Given the description of an element on the screen output the (x, y) to click on. 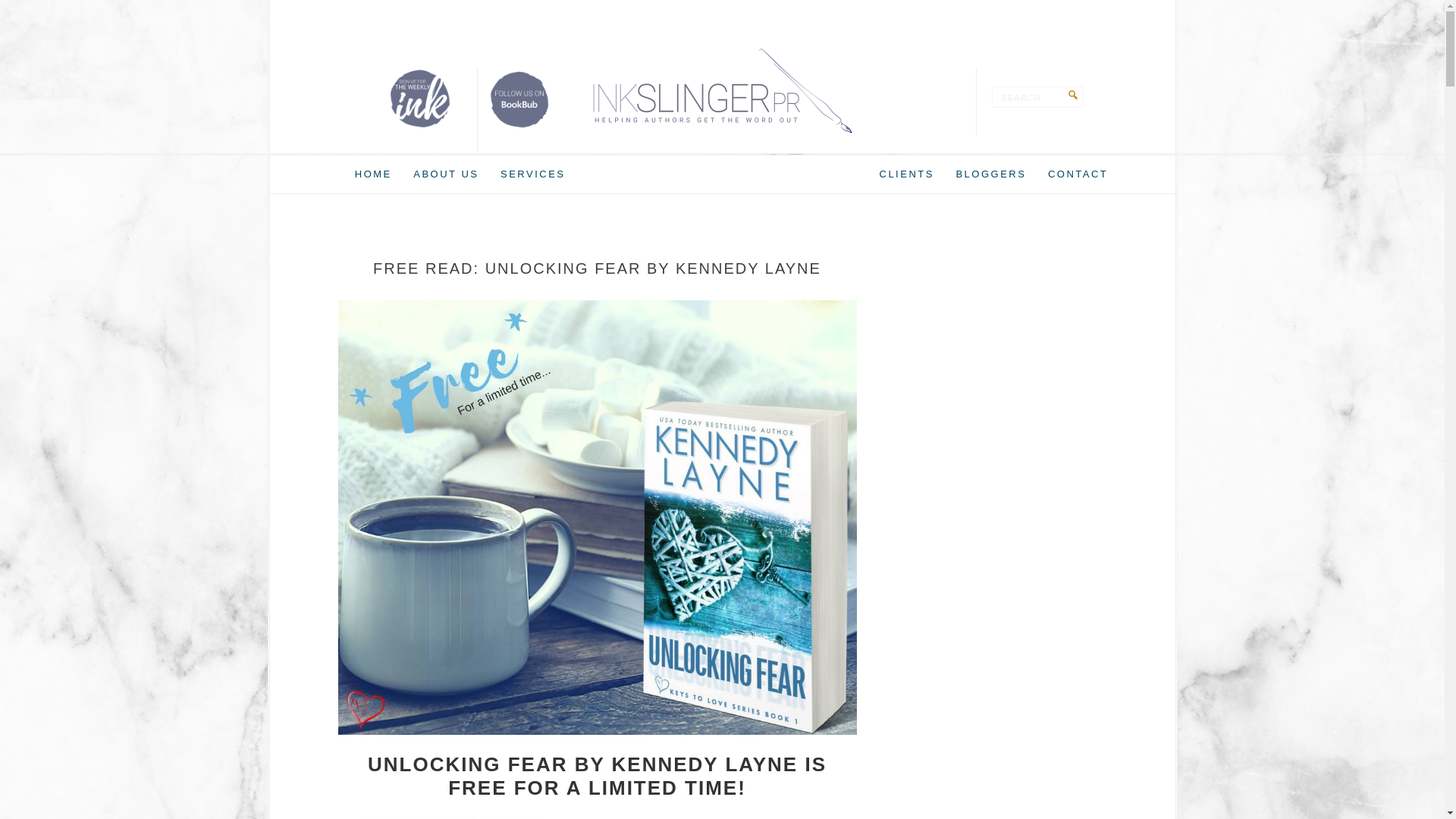
INKSLINGER PR (722, 91)
SERVICES (533, 174)
CONTACT (1077, 174)
ABOUT US (445, 174)
FREE READ: UNLOCKING FEAR BY KENNEDY LAYNE (596, 268)
BLOGGERS (990, 174)
CLIENTS (906, 174)
HOME (373, 174)
